Given the description of an element on the screen output the (x, y) to click on. 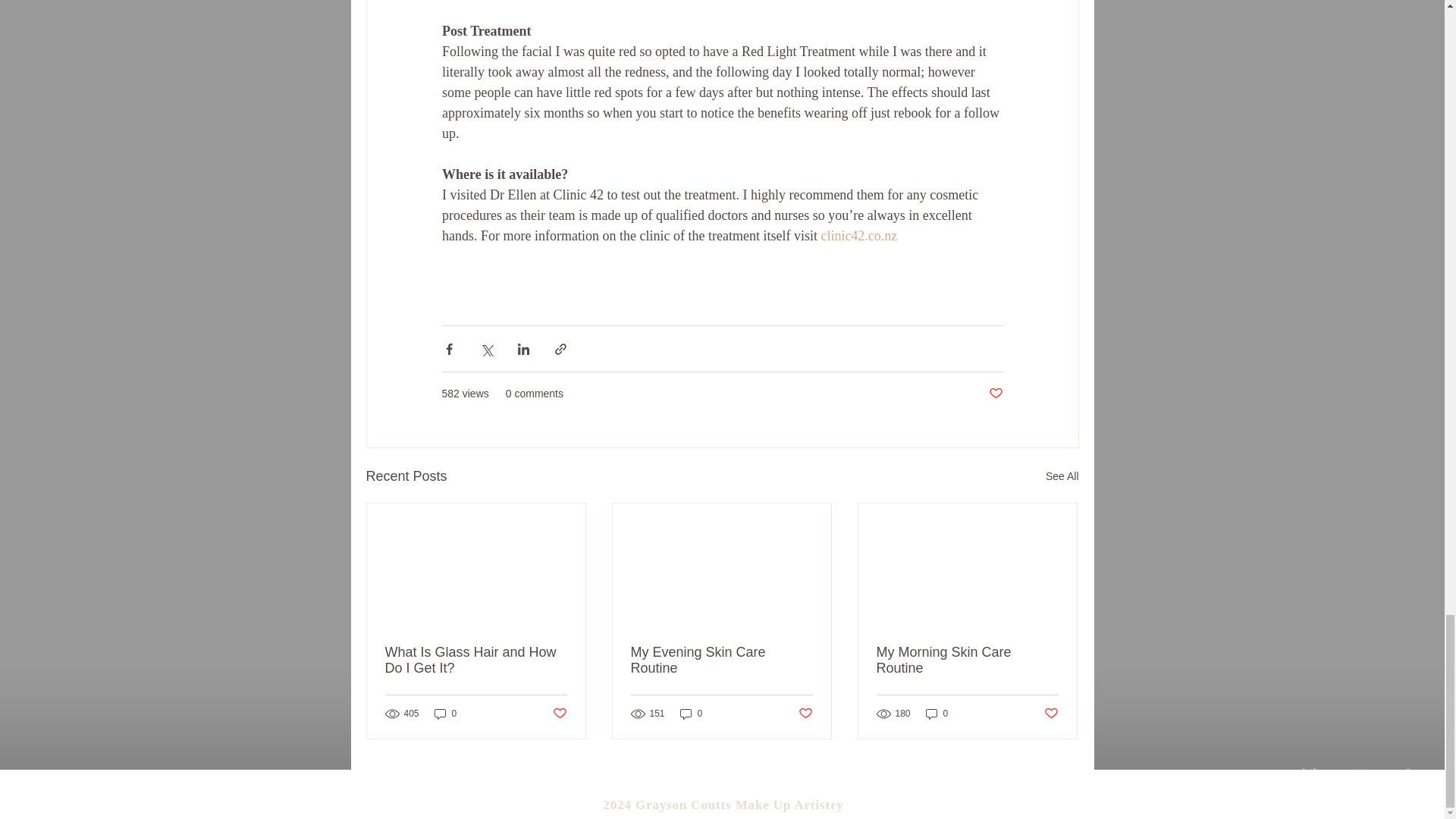
0 (691, 713)
0 (937, 713)
Post not marked as liked (558, 713)
My Evening Skin Care Routine (721, 660)
My Morning Skin Care Routine (967, 660)
0 (445, 713)
What Is Glass Hair and How Do I Get It? (476, 660)
Post not marked as liked (1050, 713)
See All (1061, 476)
Post not marked as liked (995, 393)
